Given the description of an element on the screen output the (x, y) to click on. 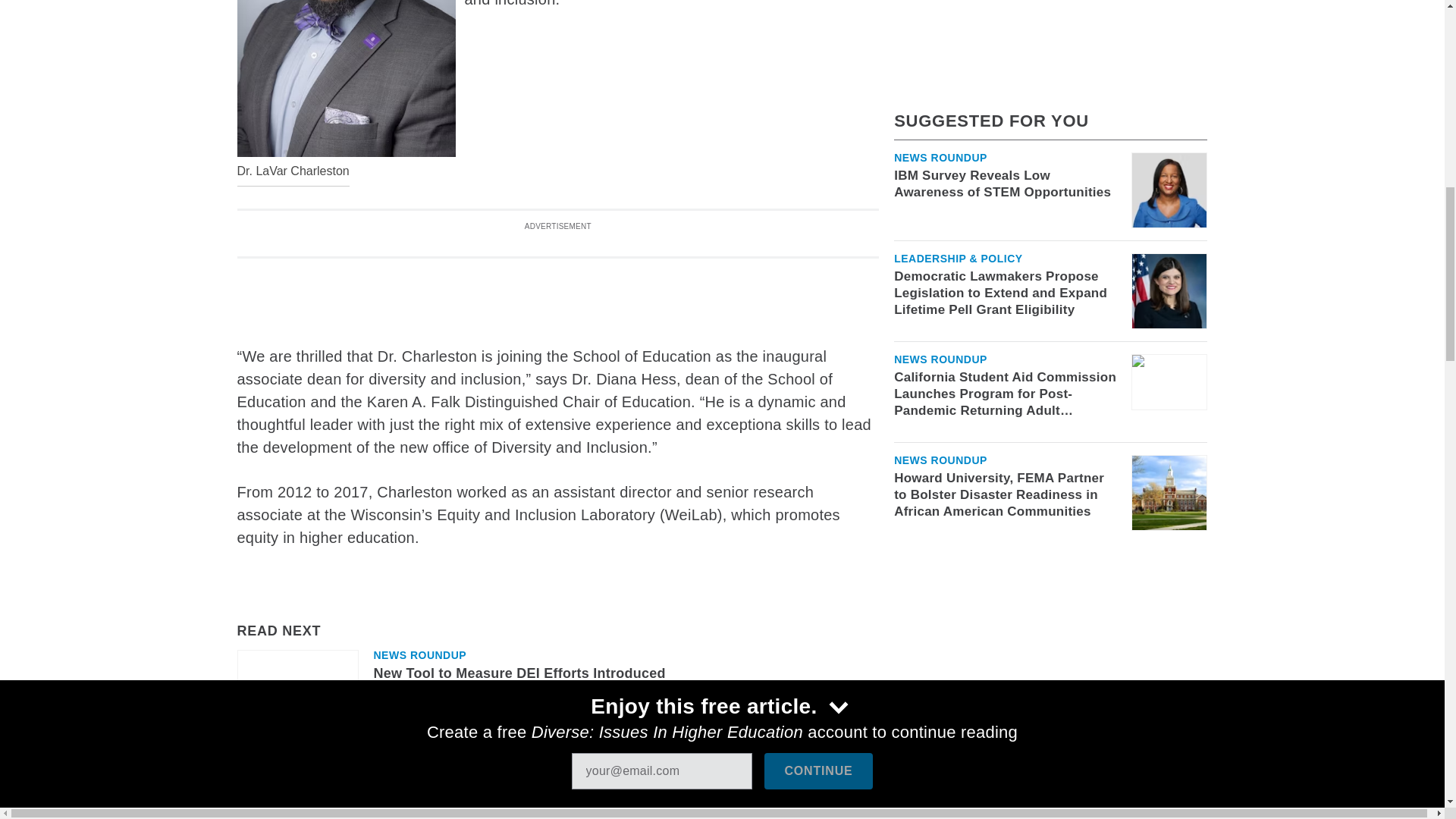
Share To facebook (290, 782)
Share To print (250, 782)
News Roundup (418, 655)
